Given the description of an element on the screen output the (x, y) to click on. 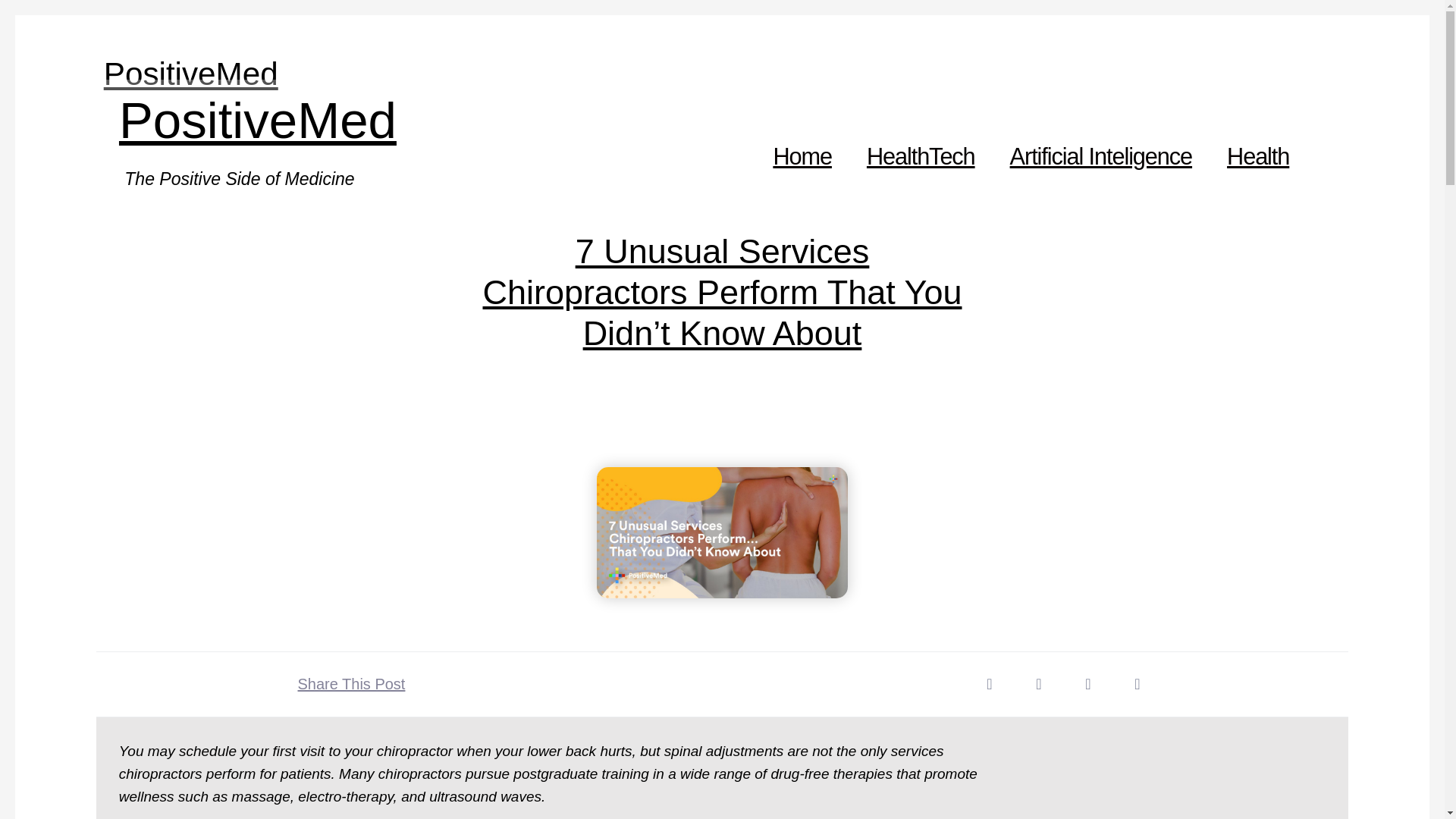
Artificial Inteligence (1101, 156)
Health (1258, 156)
PositiveMed (190, 73)
Home (802, 156)
HealthTech (920, 156)
